Given the description of an element on the screen output the (x, y) to click on. 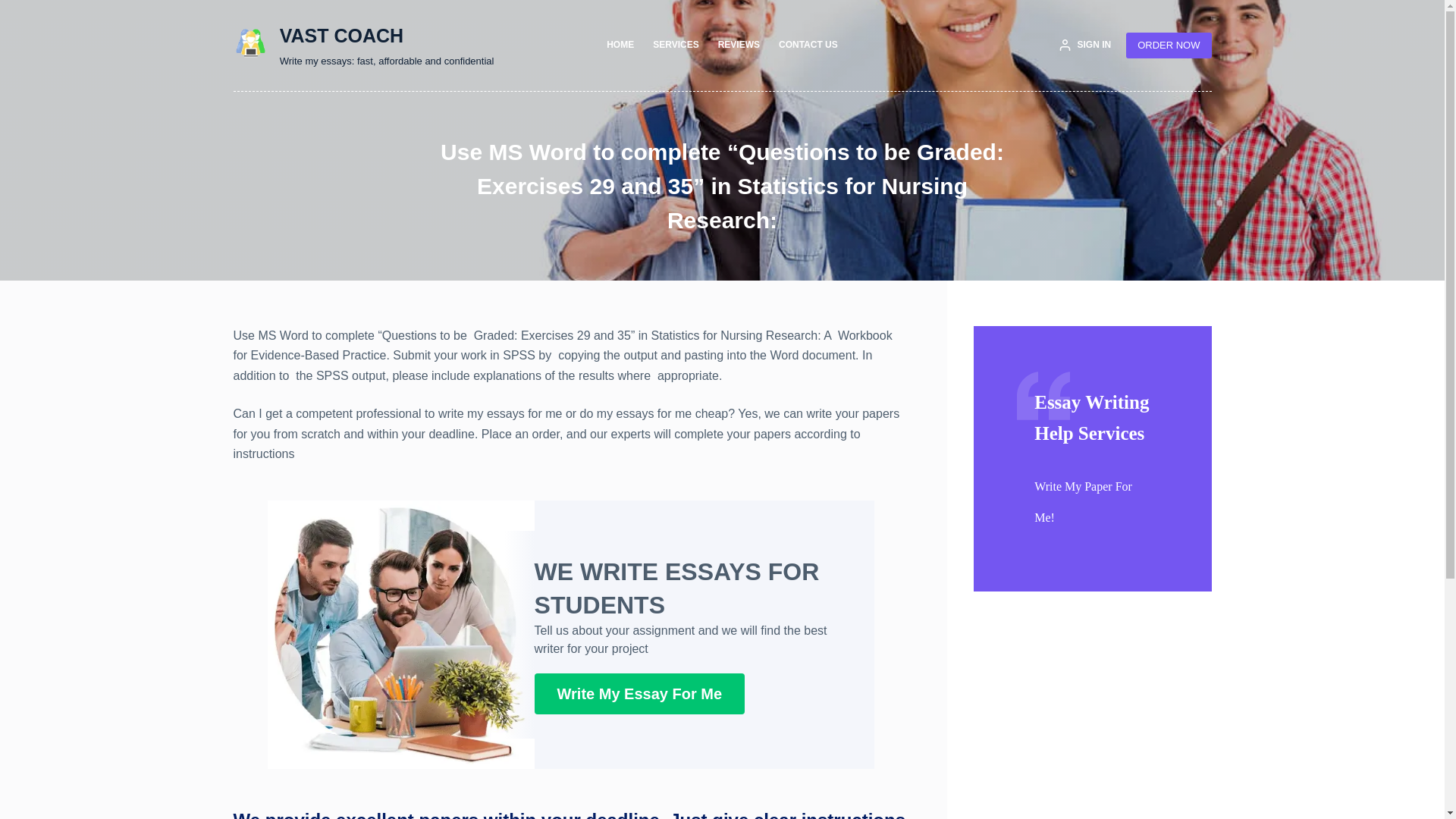
ORDER NOW (1168, 45)
SIGN IN (1084, 45)
Skip to content (15, 7)
VAST COACH (341, 35)
Write My Essay For Me (639, 693)
